Given the description of an element on the screen output the (x, y) to click on. 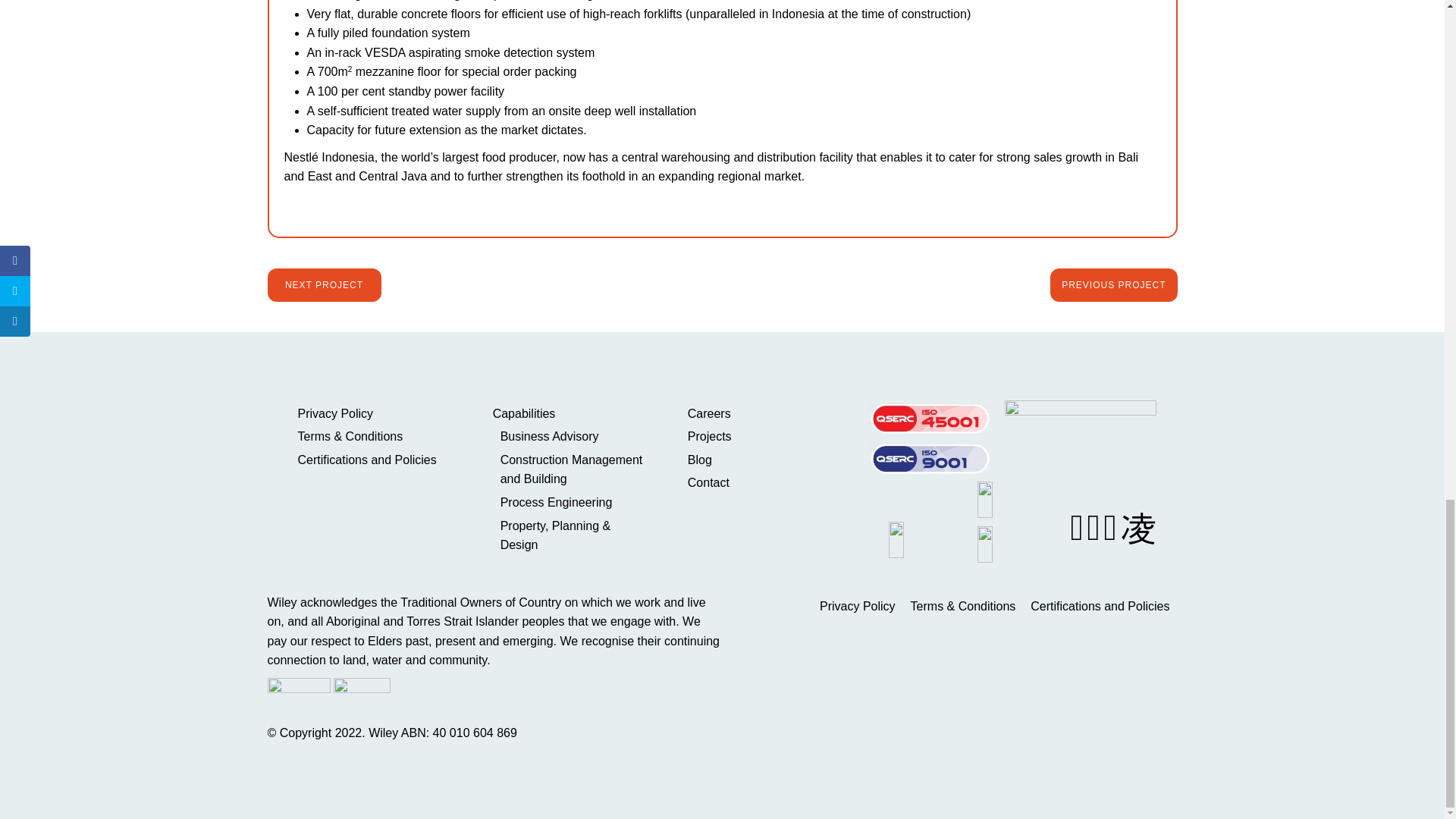
Blog (765, 460)
Certifications and Policies (1099, 606)
Projects (765, 436)
Contact (765, 483)
Business Advisory (574, 436)
Business Advisory (574, 436)
Process Engineering (574, 502)
Projects (765, 436)
Construction Management and Building (574, 469)
Careers (765, 414)
